Given the description of an element on the screen output the (x, y) to click on. 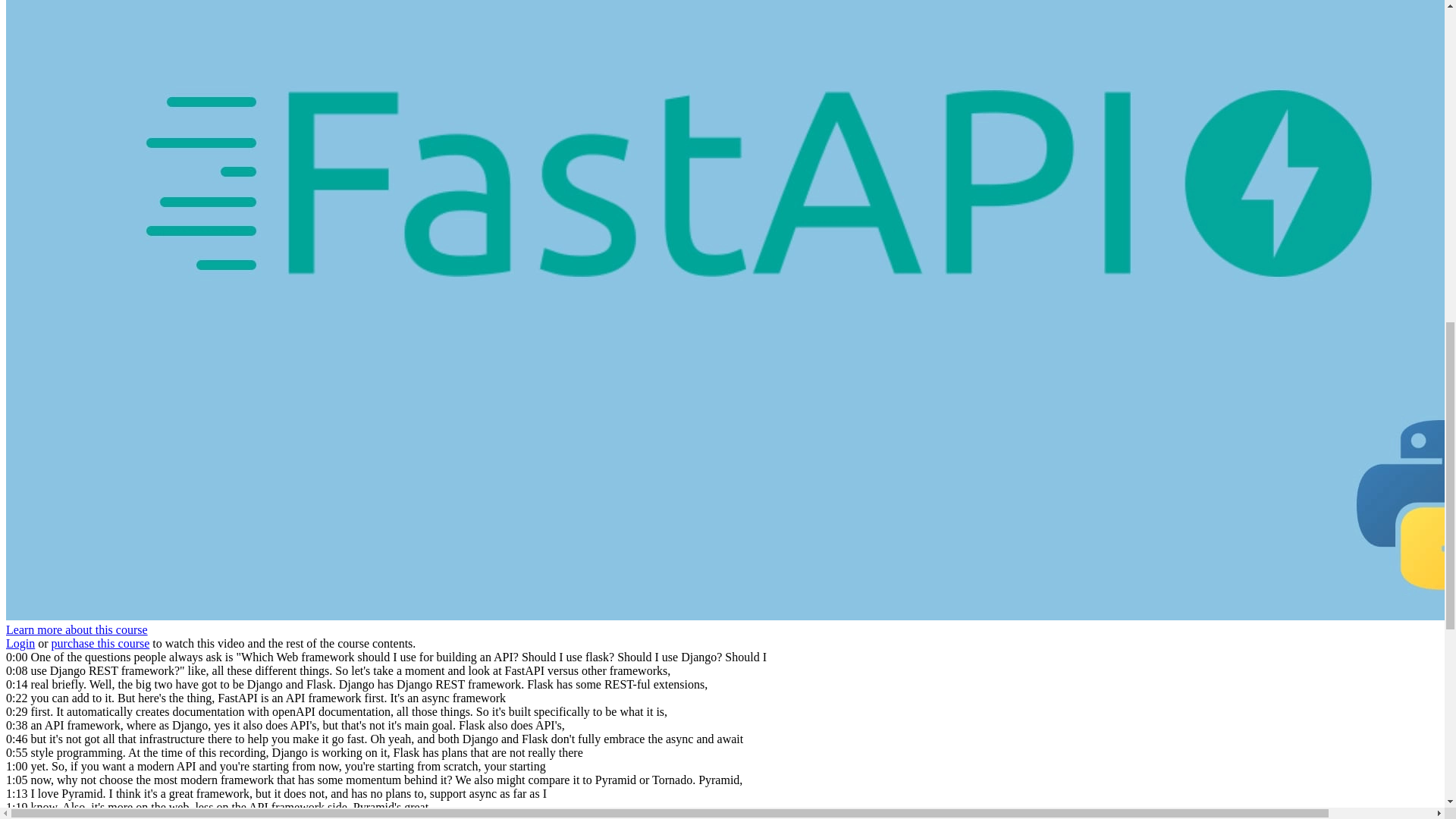
Learn more about this course (76, 629)
Login (19, 643)
purchase this course (99, 643)
